Given the description of an element on the screen output the (x, y) to click on. 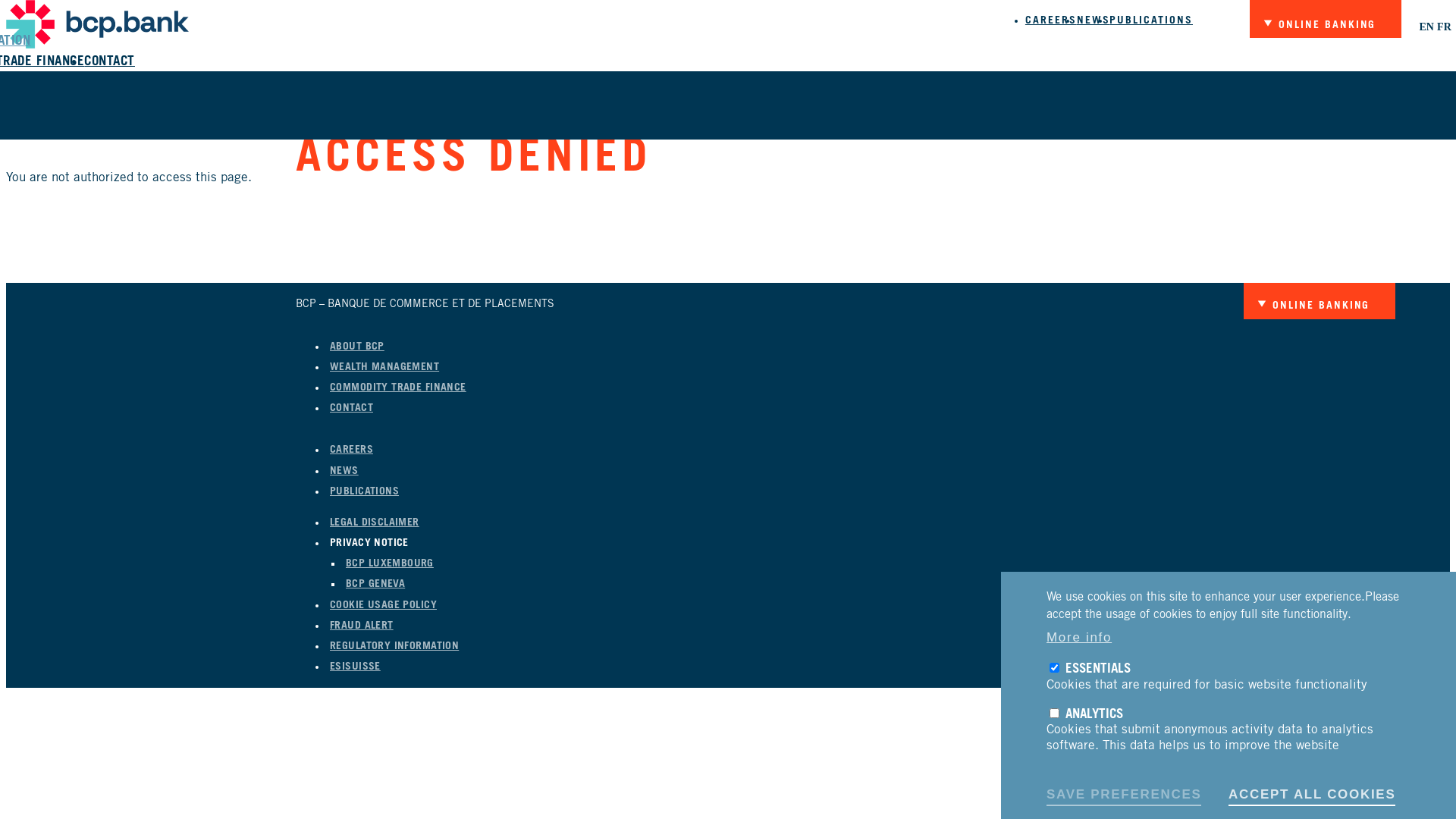
CAREERS Element type: text (351, 449)
LEGAL DISCLAIMER Element type: text (374, 522)
COMMODITY TRADE FINANCE Element type: text (398, 387)
ONLINE BANKING Element type: text (1312, 305)
REGULATORY INFORMATION Element type: text (394, 646)
SAVE PREFERENCES Element type: text (1123, 792)
NEWS Element type: text (344, 470)
NEWS Element type: text (1093, 20)
CONTACT Element type: text (351, 407)
PUBLICATIONS Element type: text (1150, 20)
FR Element type: text (1444, 26)
PUBLICATIONS Element type: text (364, 491)
BCP LUXEMBOURG Element type: text (389, 563)
Home Element type: hover (97, 44)
ACCEPT ALL COOKIES Element type: text (1311, 792)
More info Element type: text (1078, 634)
CAREERS Element type: text (1050, 20)
CONTACT Element type: text (109, 60)
FRAUD ALERT Element type: text (361, 625)
ESISUISSE Element type: text (355, 666)
BCP GENEVA Element type: text (375, 583)
WEALTH MANAGEMENT Element type: text (384, 366)
ABOUT BCP Element type: text (357, 346)
EN Element type: text (1425, 26)
Skip to main content Element type: text (6, 0)
COOKIE USAGE POLICY Element type: text (383, 605)
Search Element type: text (804, 121)
ONLINE BANKING Element type: text (1318, 24)
